Given the description of an element on the screen output the (x, y) to click on. 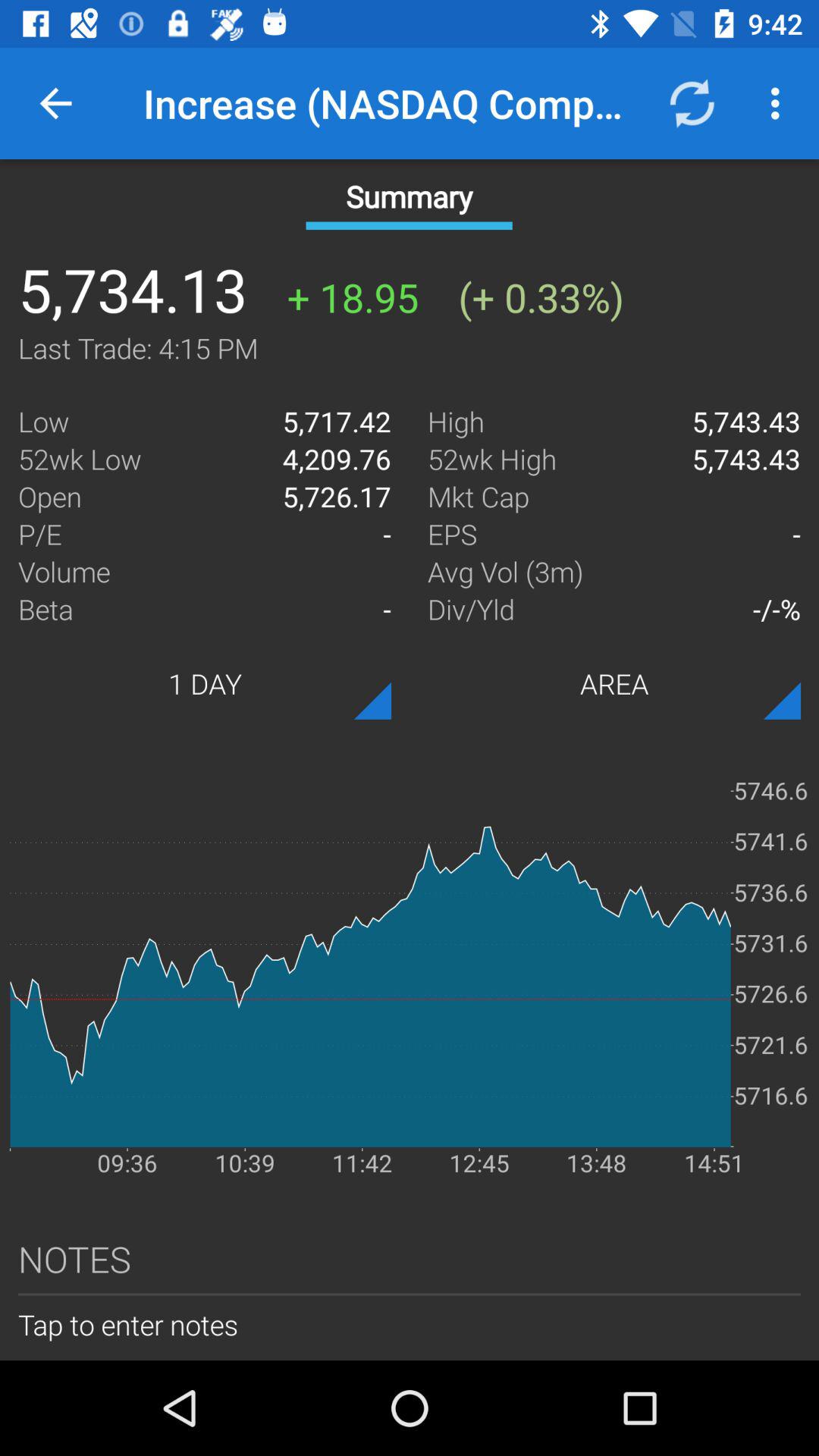
press item below the div/yld icon (613, 683)
